Given the description of an element on the screen output the (x, y) to click on. 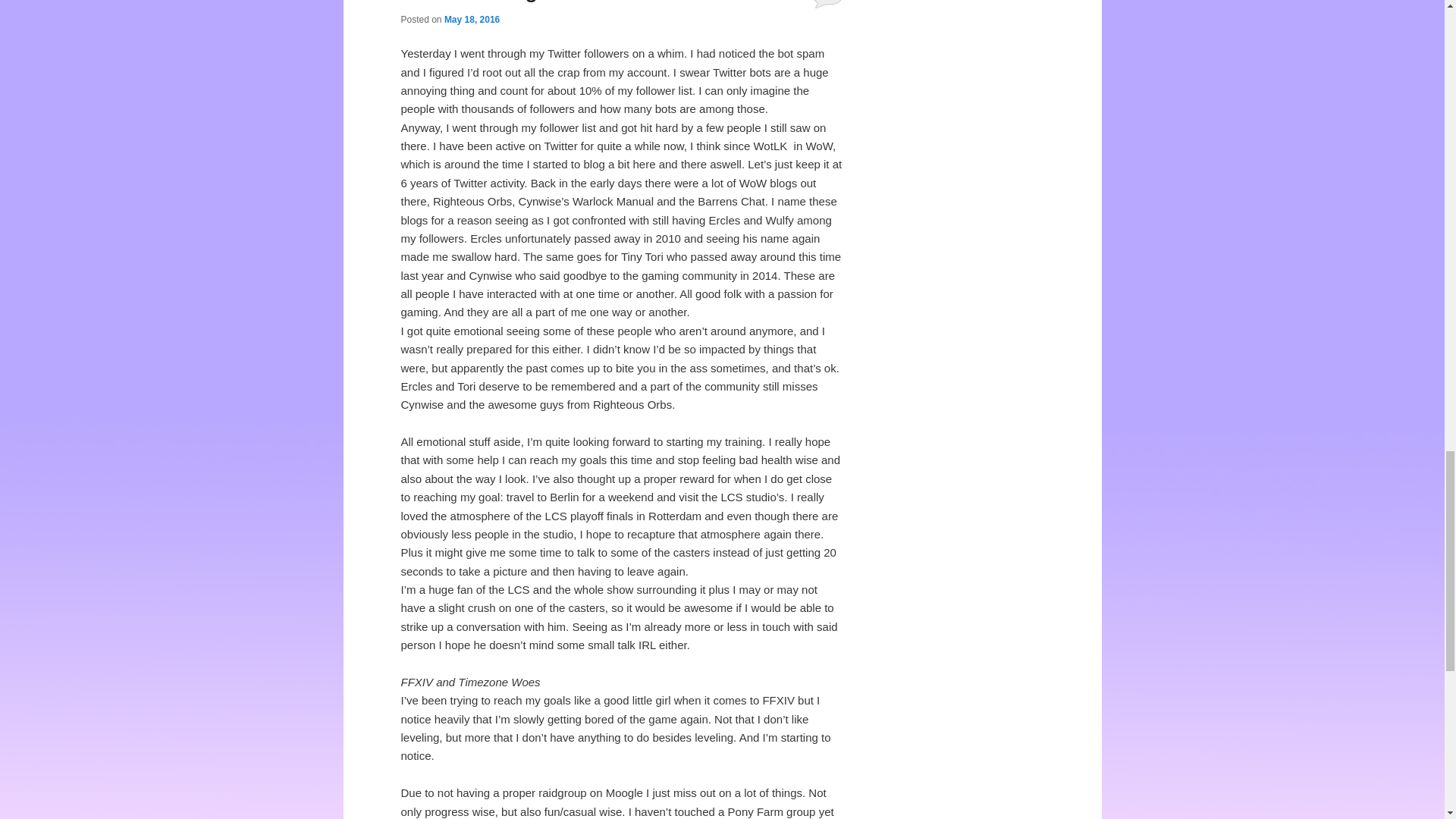
2 (827, 4)
May 18, 2016 (471, 19)
Weird Evening (468, 1)
2:22 pm (471, 19)
